Given the description of an element on the screen output the (x, y) to click on. 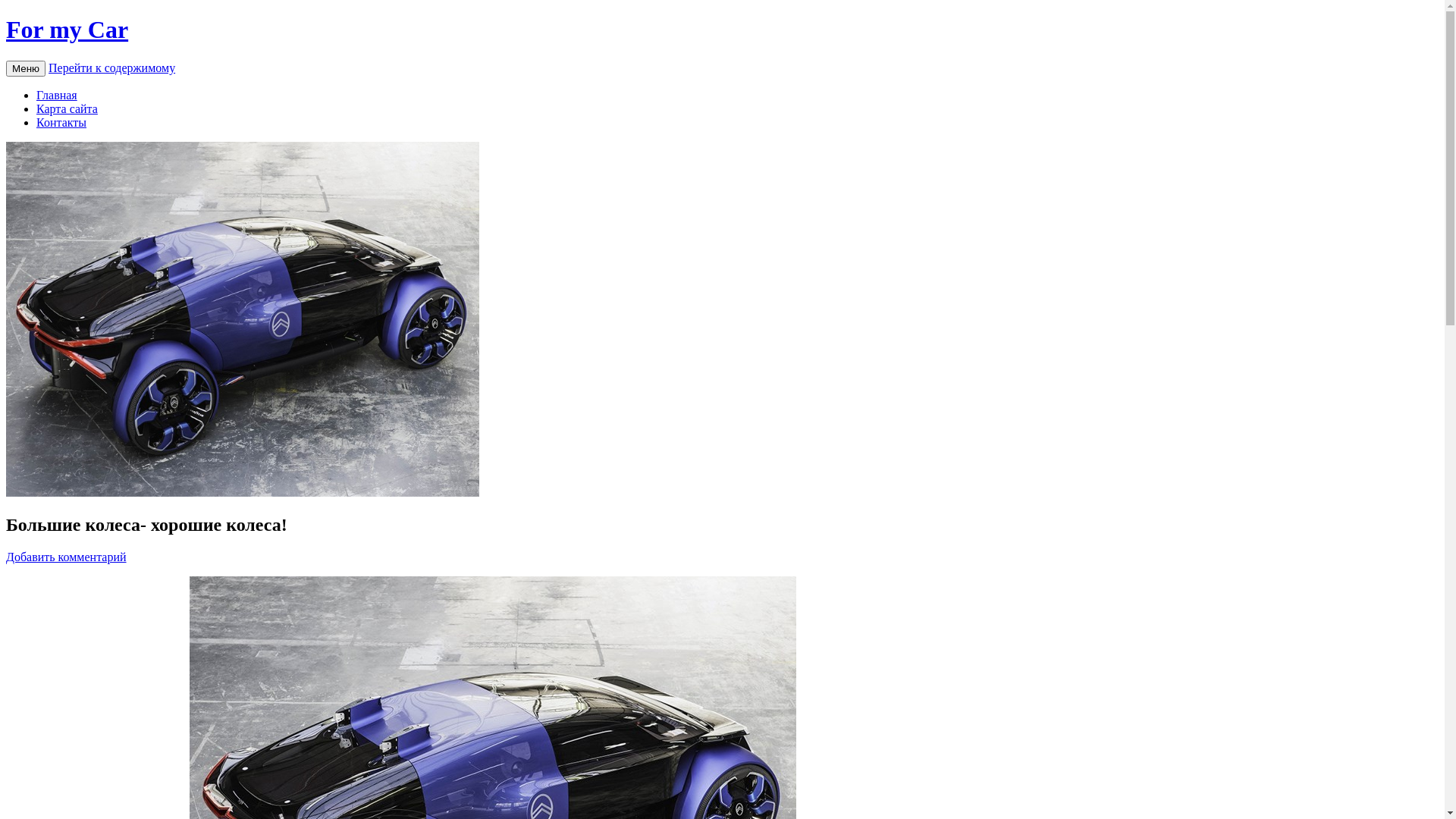
For my Car Element type: text (67, 29)
